Given the description of an element on the screen output the (x, y) to click on. 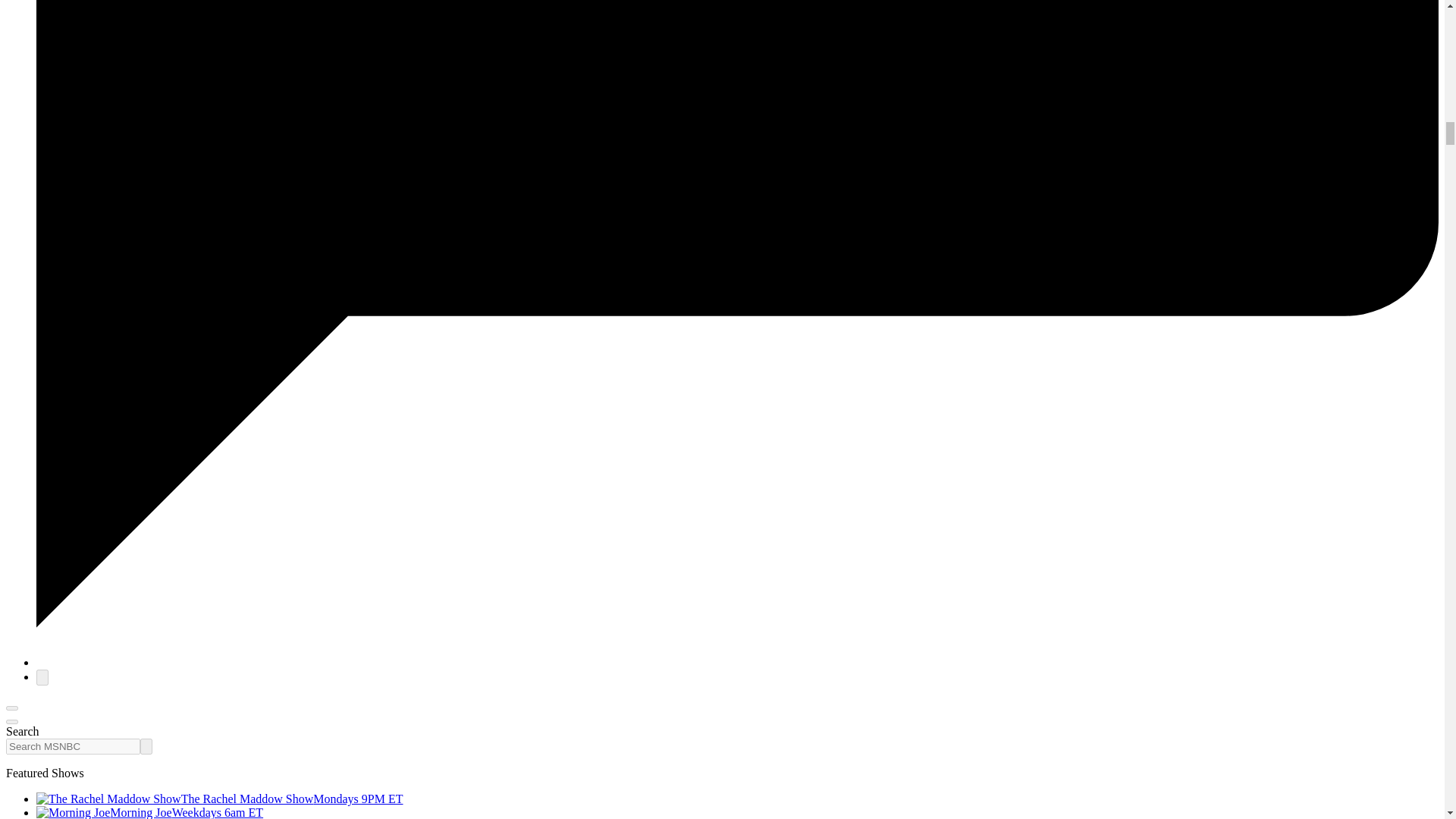
Search (145, 746)
The Rachel Maddow ShowMondays 9PM ET (219, 798)
Morning JoeWeekdays 6am ET (149, 812)
